Given the description of an element on the screen output the (x, y) to click on. 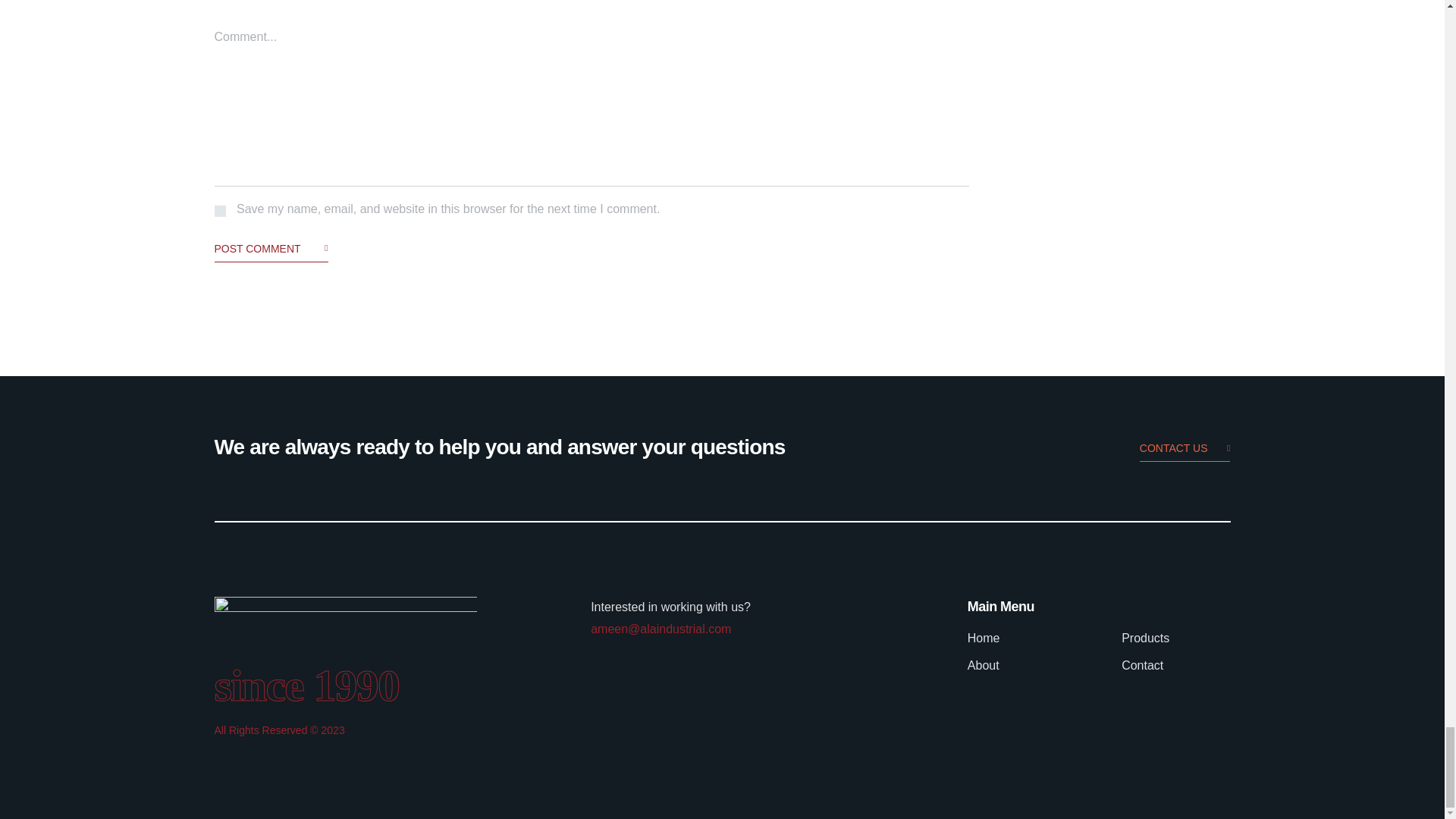
yes (219, 211)
